Given the description of an element on the screen output the (x, y) to click on. 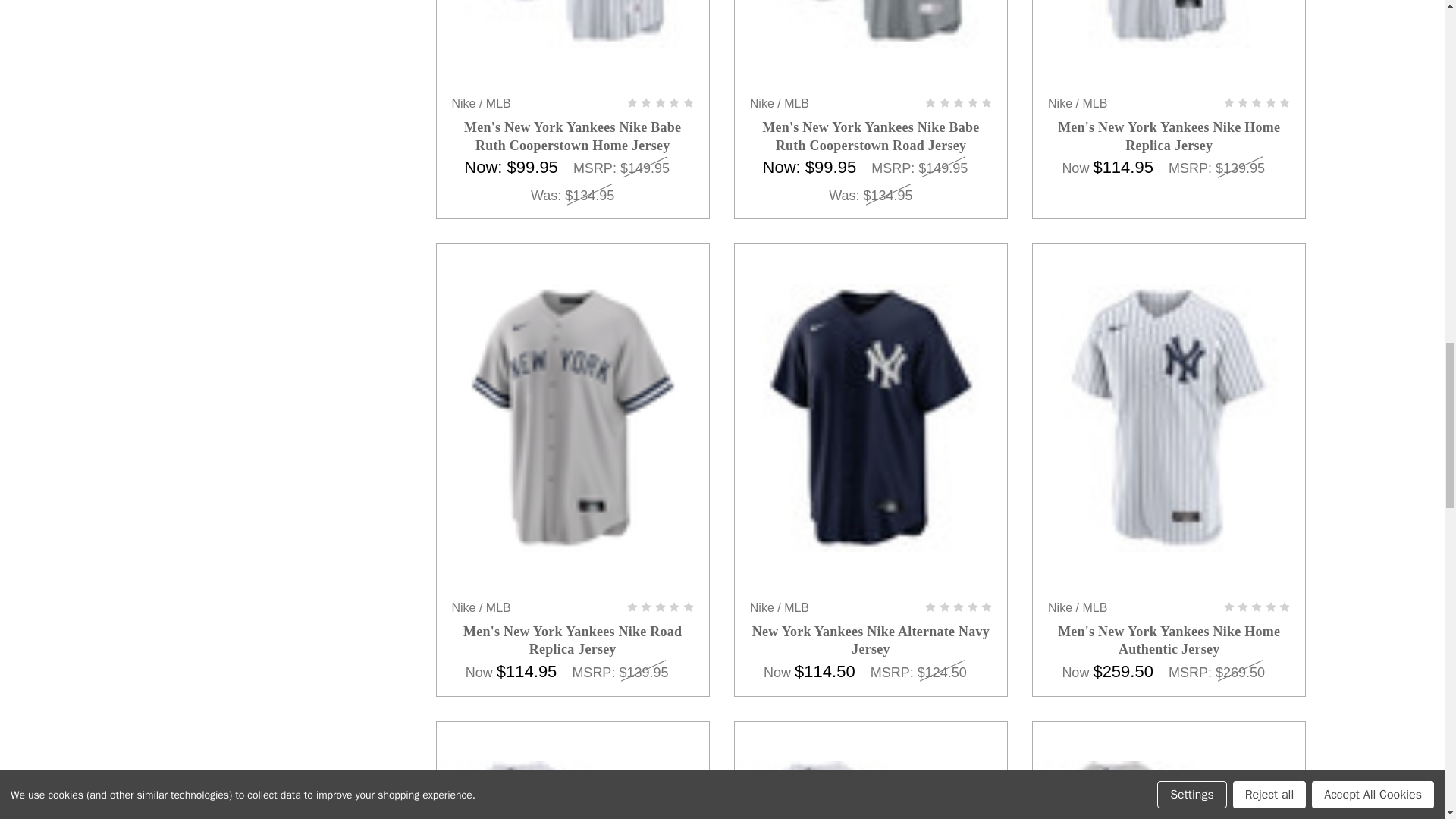
Men's New York Yankees Nike Home Replica Jersey (1169, 23)
